Given the description of an element on the screen output the (x, y) to click on. 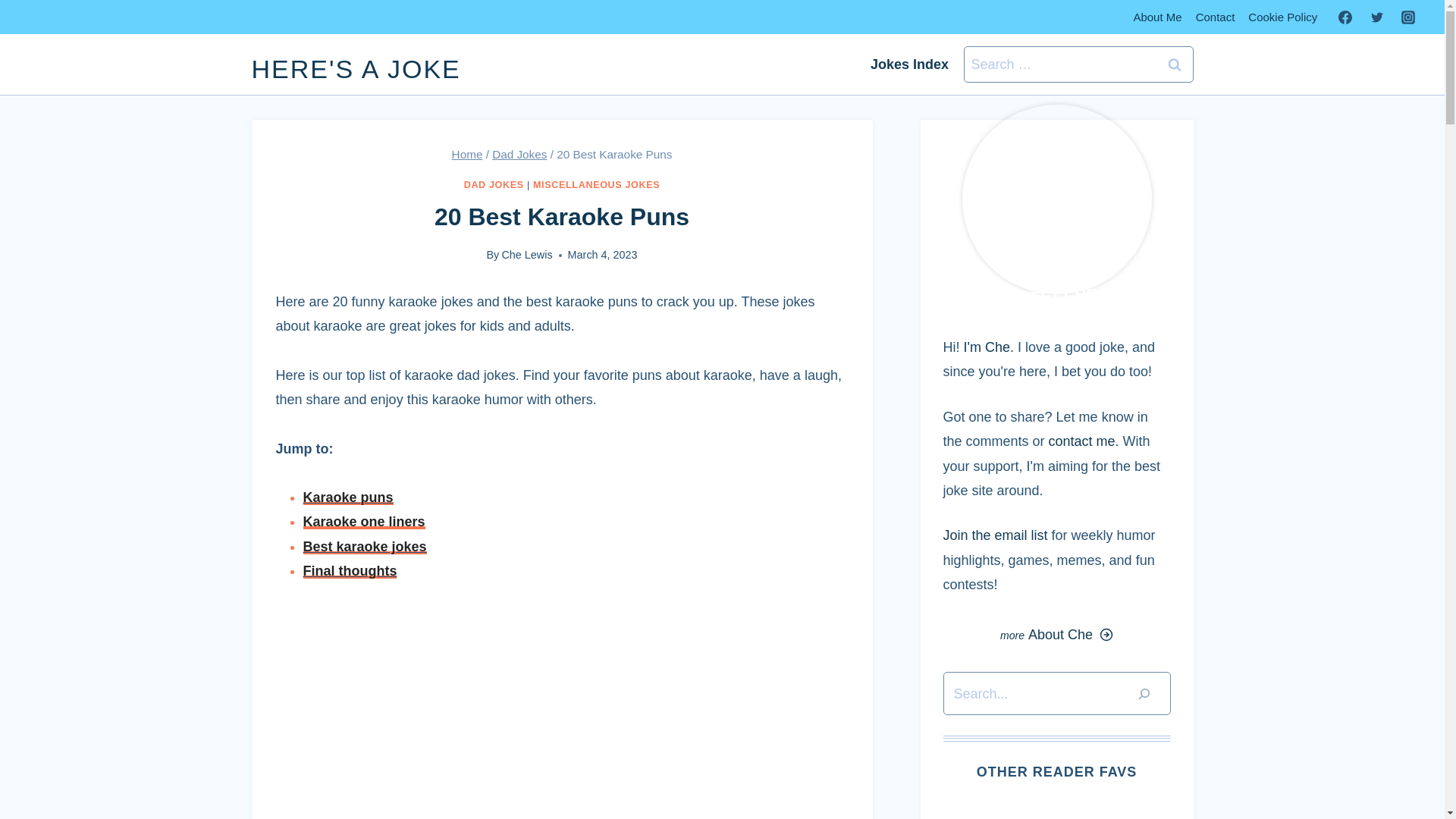
Karaoke puns (347, 497)
MISCELLANEOUS JOKES (595, 184)
HERE'S A JOKE (356, 68)
Search (1174, 64)
Che Lewis (525, 254)
Final thoughts (349, 570)
Search (1174, 64)
About Me (1156, 17)
Karaoke one liners (363, 521)
Dad Jokes (519, 154)
Home (467, 154)
Best karaoke jokes (364, 546)
DAD JOKES (494, 184)
Contact (1215, 17)
Cookie Policy (1282, 17)
